Given the description of an element on the screen output the (x, y) to click on. 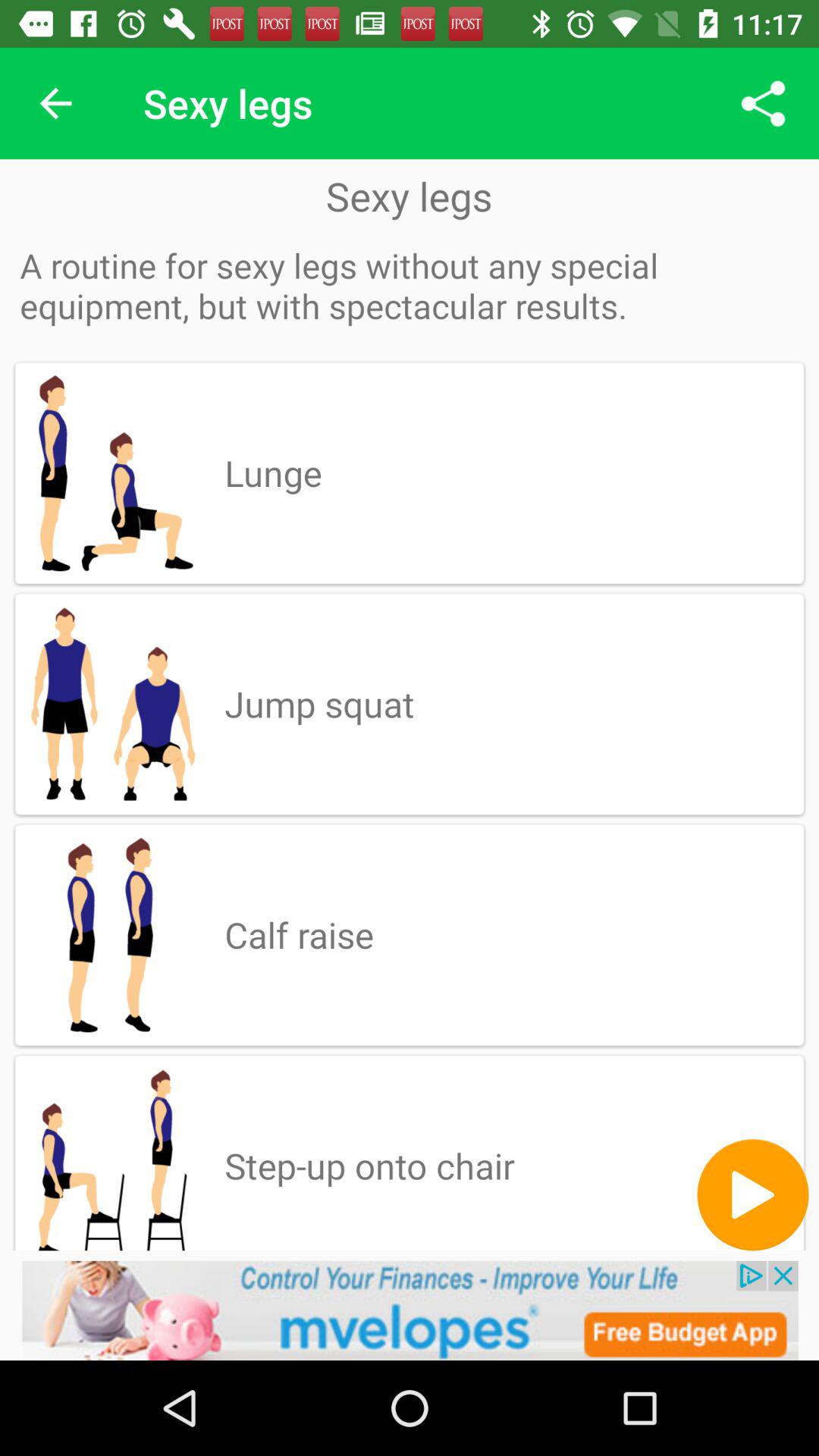
play (752, 1194)
